Given the description of an element on the screen output the (x, y) to click on. 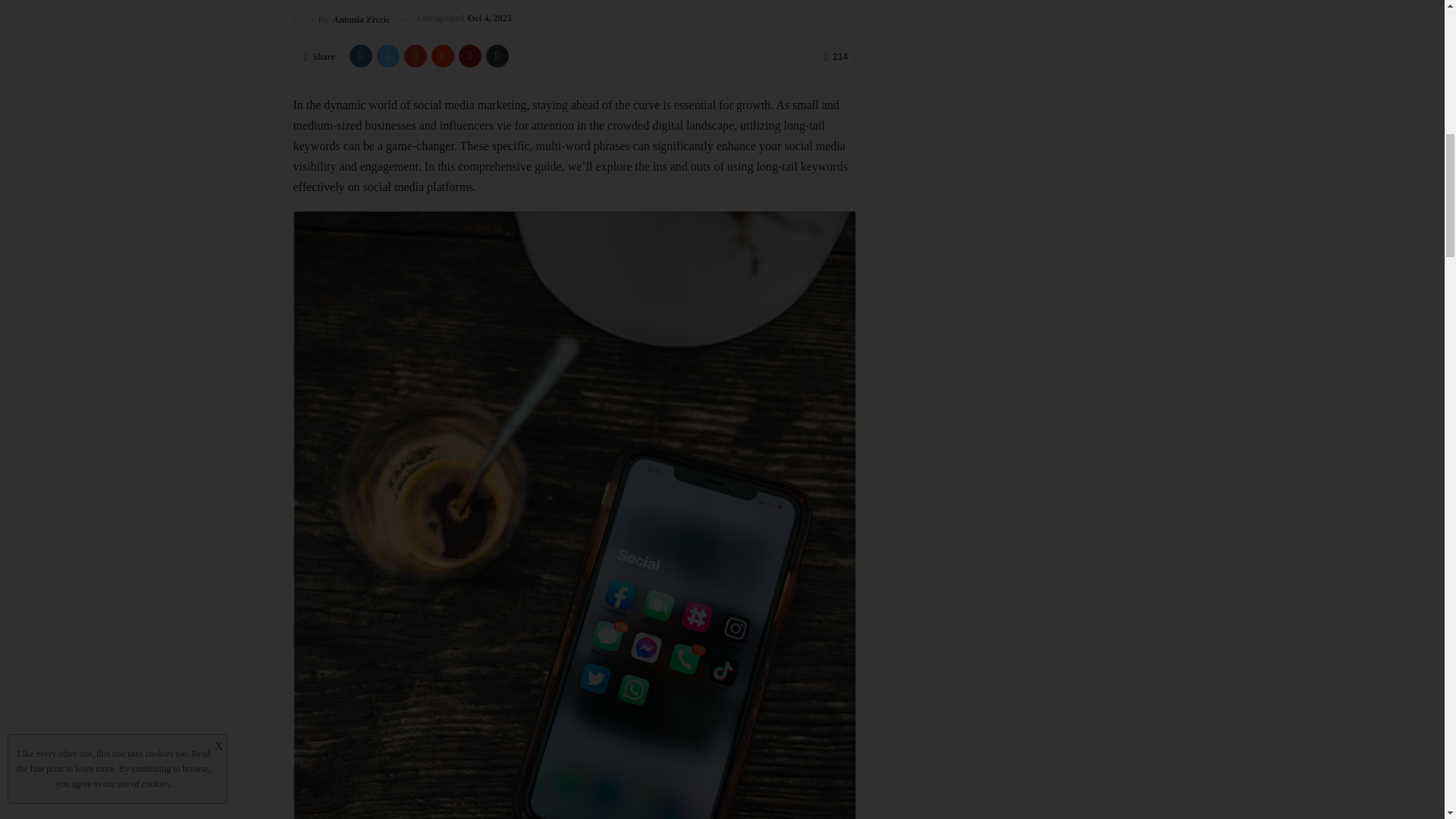
Browse Author Articles (341, 18)
By Antonia Zivcic (341, 18)
